Given the description of an element on the screen output the (x, y) to click on. 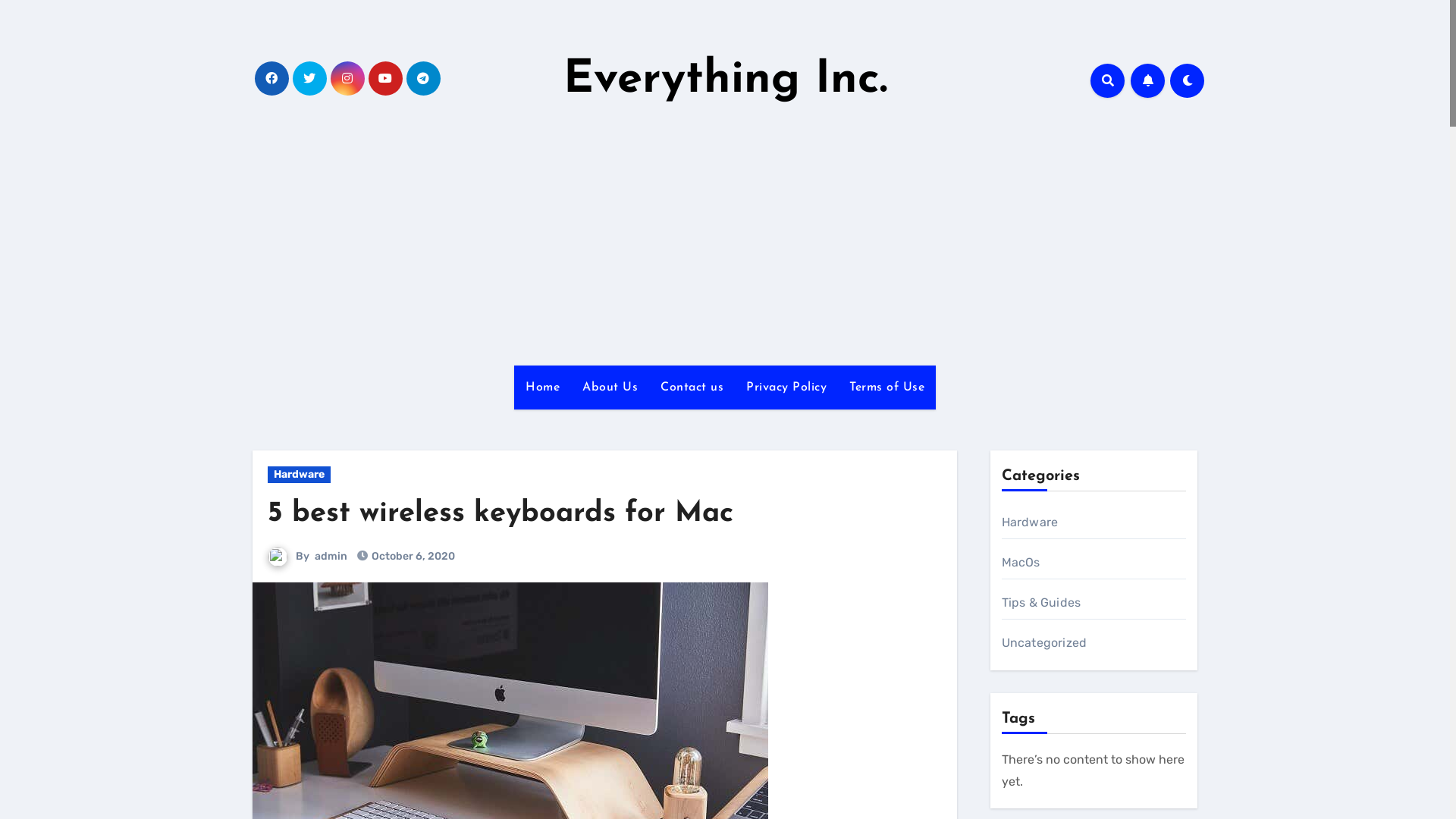
MacOs Element type: text (1020, 562)
Contact us Element type: text (691, 387)
About Us Element type: text (610, 387)
October 6, 2020 Element type: text (413, 555)
Hardware Element type: text (1029, 521)
Home Element type: text (542, 387)
admin Element type: text (330, 555)
Hardware Element type: text (298, 474)
Terms of Use Element type: text (886, 387)
Uncategorized Element type: text (1043, 642)
Everything Inc. Element type: text (724, 80)
Privacy Policy Element type: text (785, 387)
Tips & Guides Element type: text (1040, 602)
5 best wireless keyboards for Mac Element type: text (500, 513)
